Given the description of an element on the screen output the (x, y) to click on. 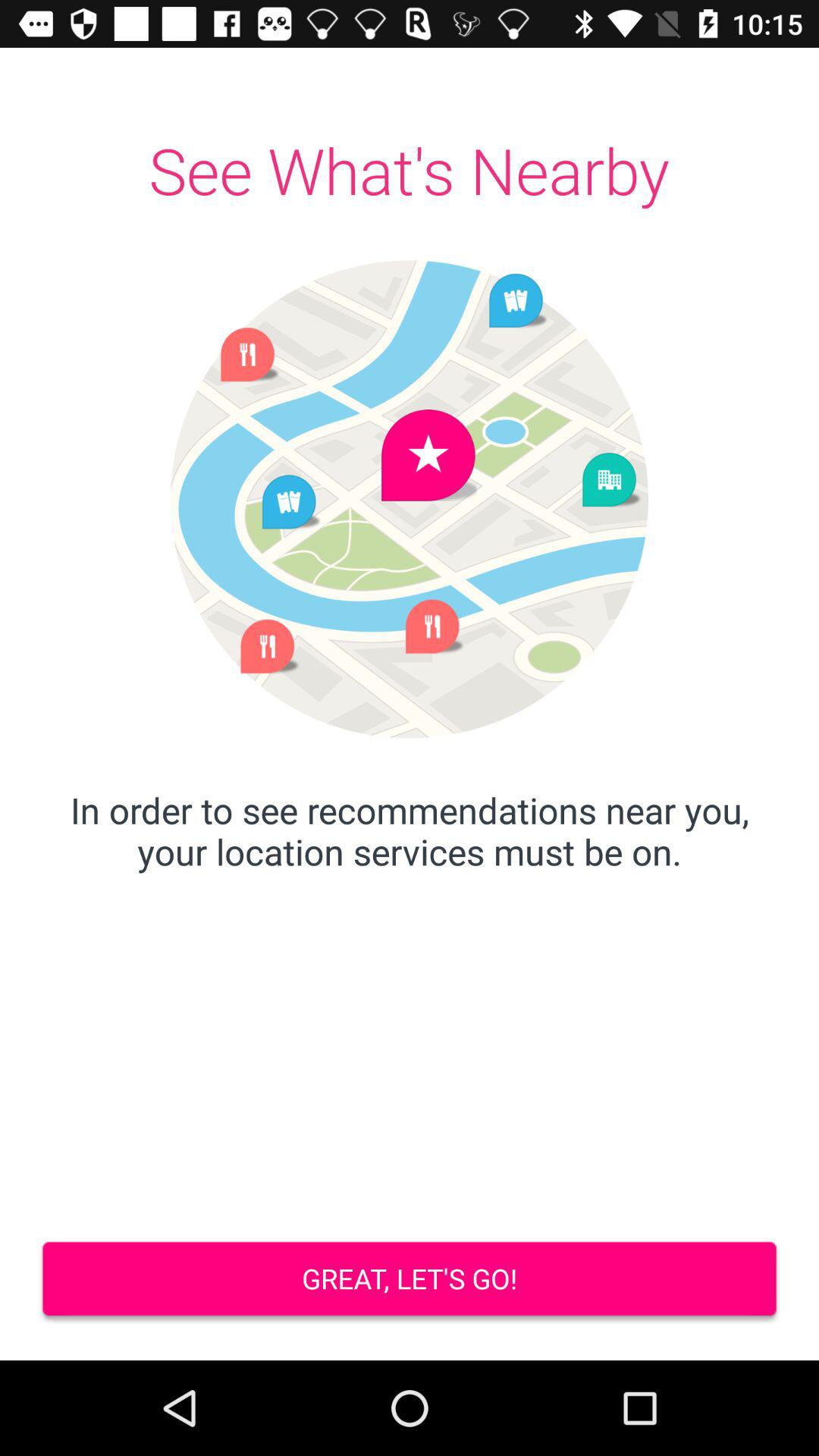
flip until the great let s icon (409, 1280)
